Given the description of an element on the screen output the (x, y) to click on. 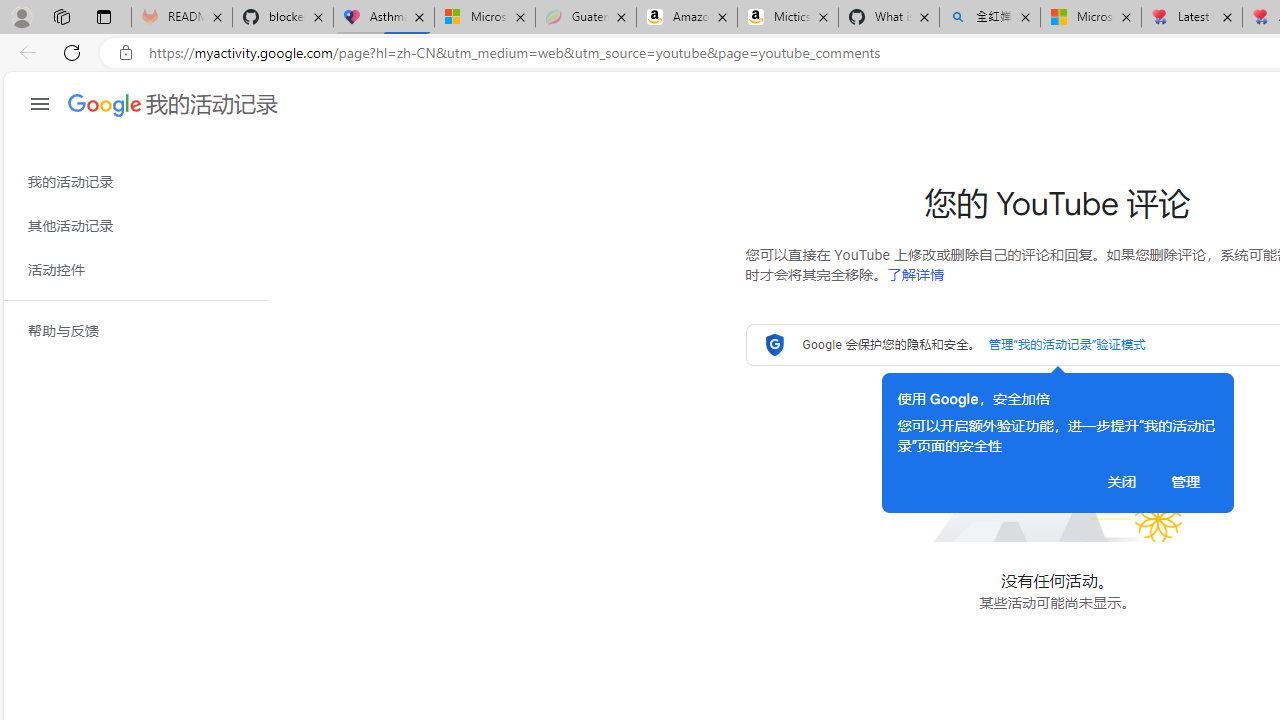
Microsoft-Report a Concern to Bing (485, 17)
